Given the description of an element on the screen output the (x, y) to click on. 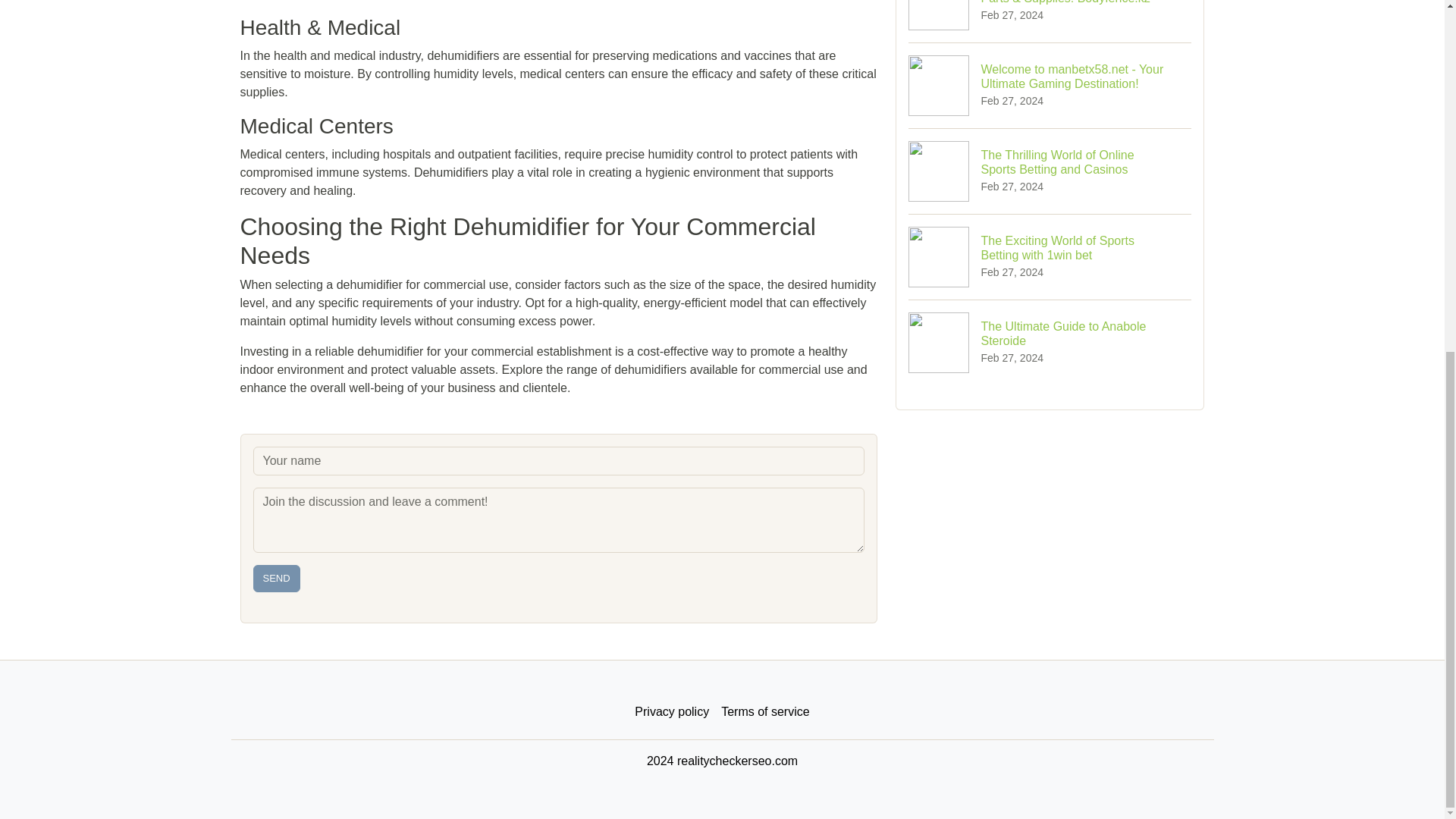
Privacy policy (671, 711)
Terms of service (764, 711)
Send (276, 578)
Send (1050, 341)
